Given the description of an element on the screen output the (x, y) to click on. 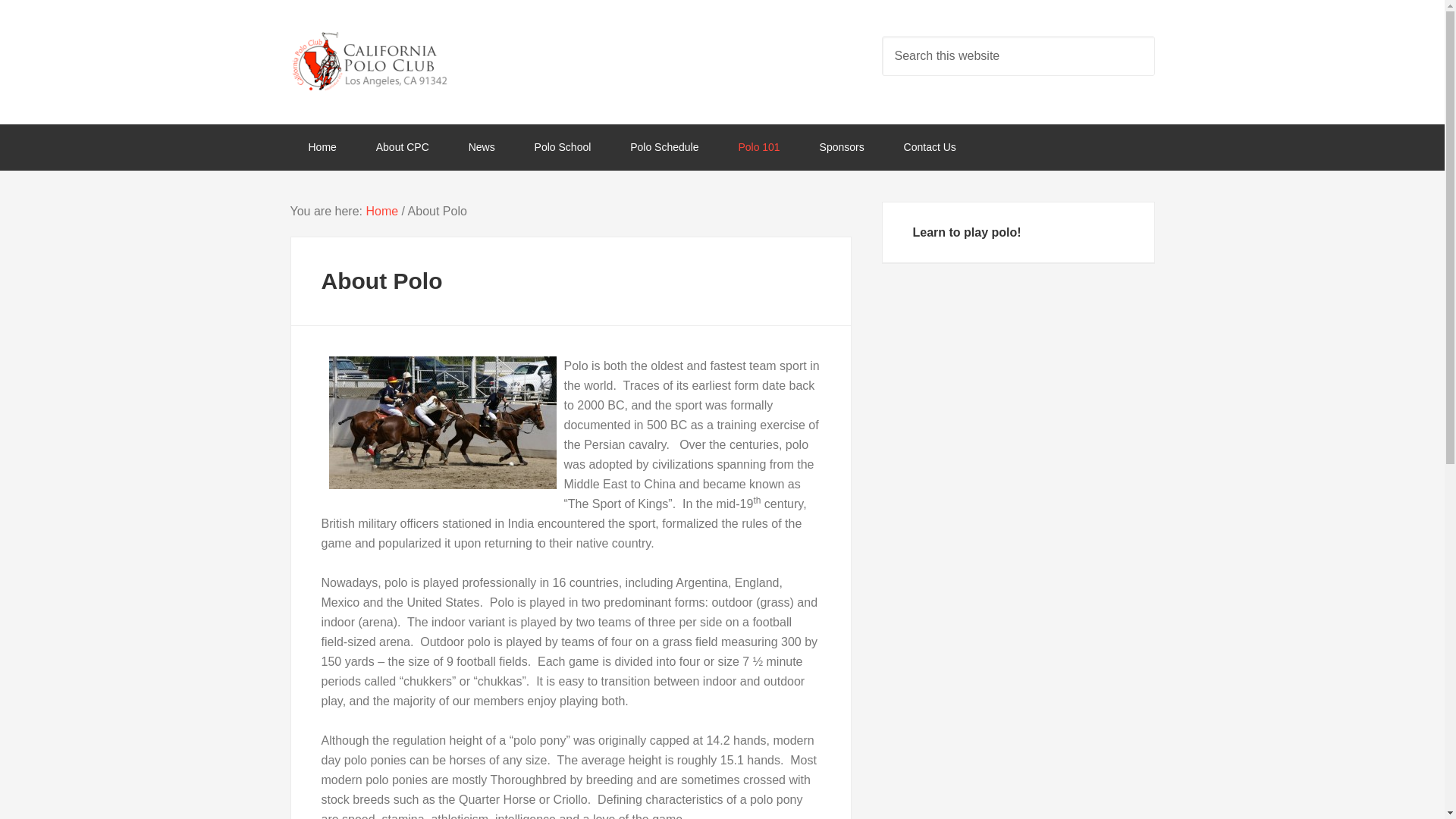
Polo Schedule (663, 147)
Polo 101 (758, 147)
California Polo Club - Los Angeles, CA (410, 60)
Sponsors (842, 147)
Polo School (563, 147)
Home (381, 210)
News (481, 147)
About CPC (402, 147)
